Given the description of an element on the screen output the (x, y) to click on. 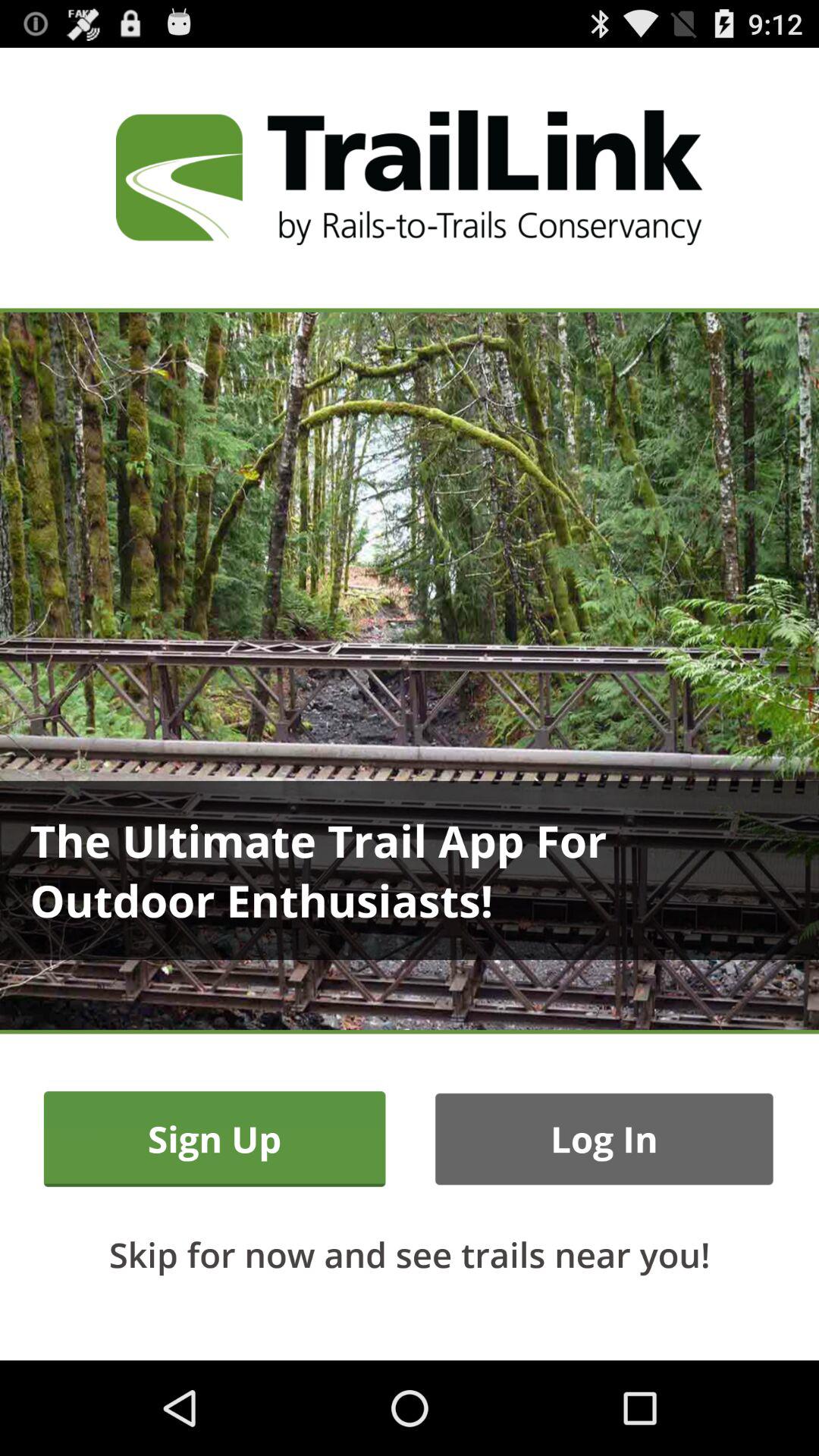
turn off the icon above the skip for now icon (604, 1138)
